Given the description of an element on the screen output the (x, y) to click on. 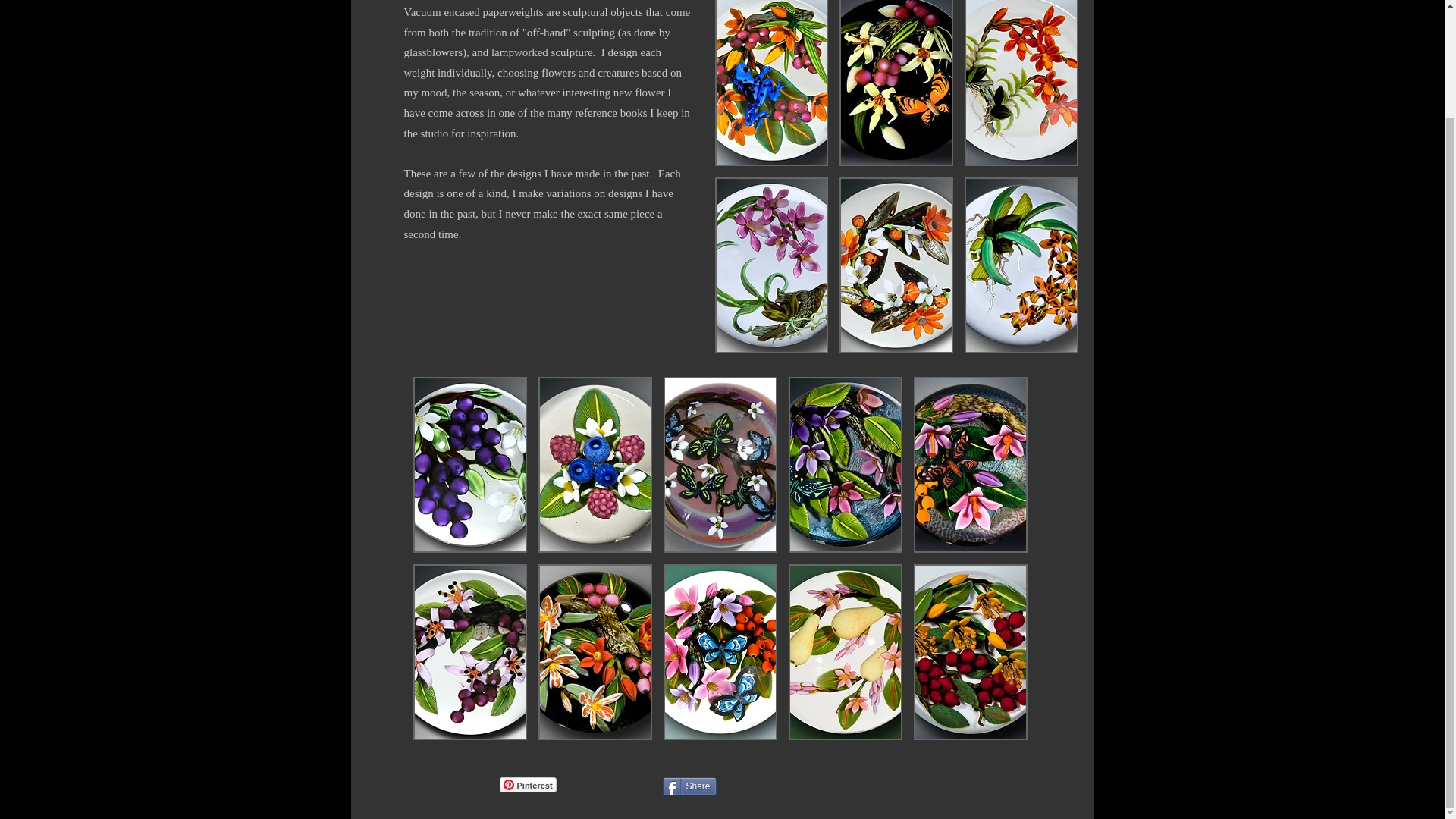
Facebook Like (911, 792)
Twitter Tweet (745, 784)
Pinterest (527, 784)
Share (689, 786)
Pinterest (527, 784)
Share (689, 786)
